Given the description of an element on the screen output the (x, y) to click on. 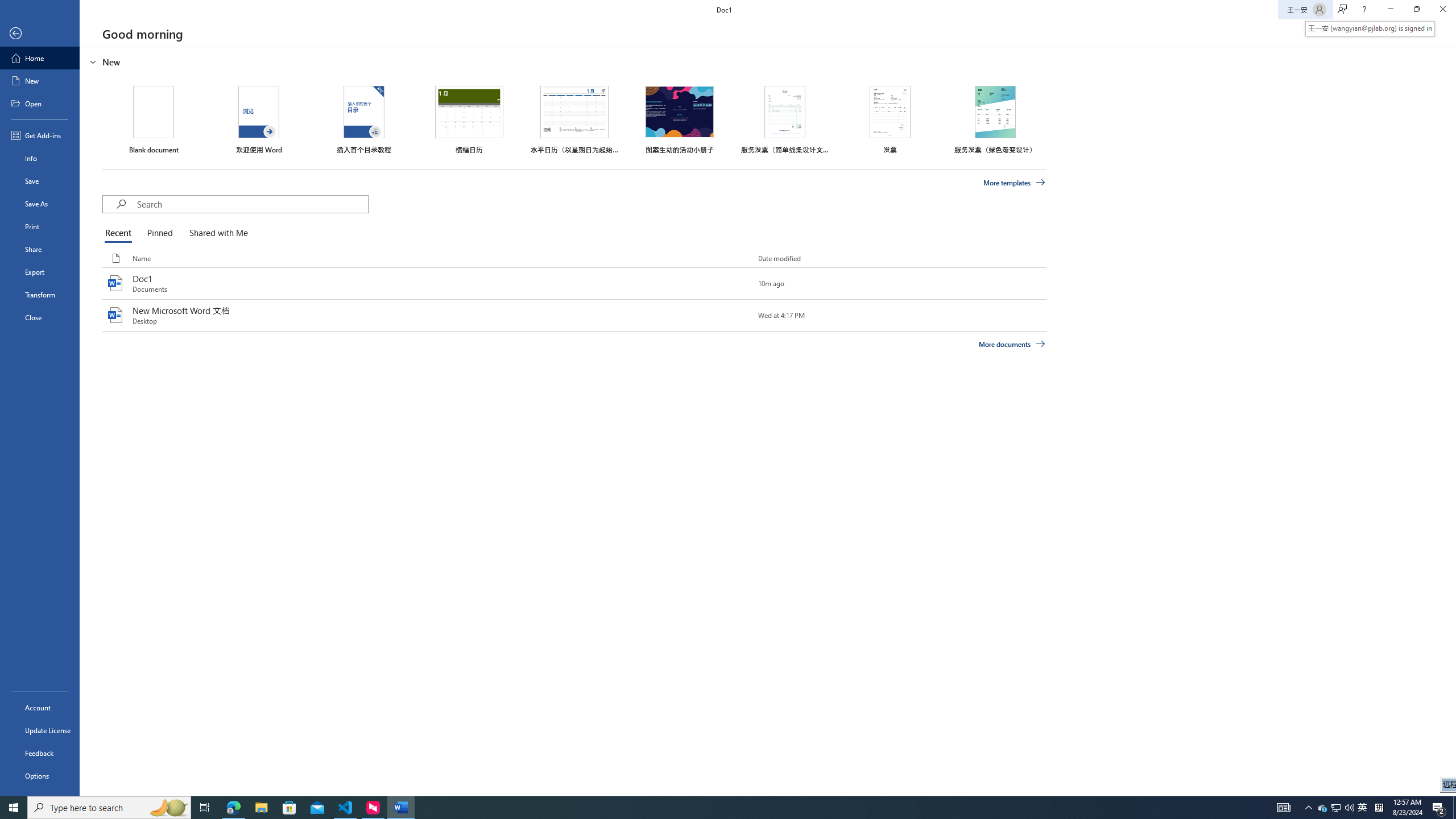
Info (40, 157)
Account (40, 707)
Print (40, 225)
More documents (1011, 343)
Hide or show region (92, 61)
Save As (40, 203)
Get Add-ins (40, 134)
Pinned (159, 233)
